Given the description of an element on the screen output the (x, y) to click on. 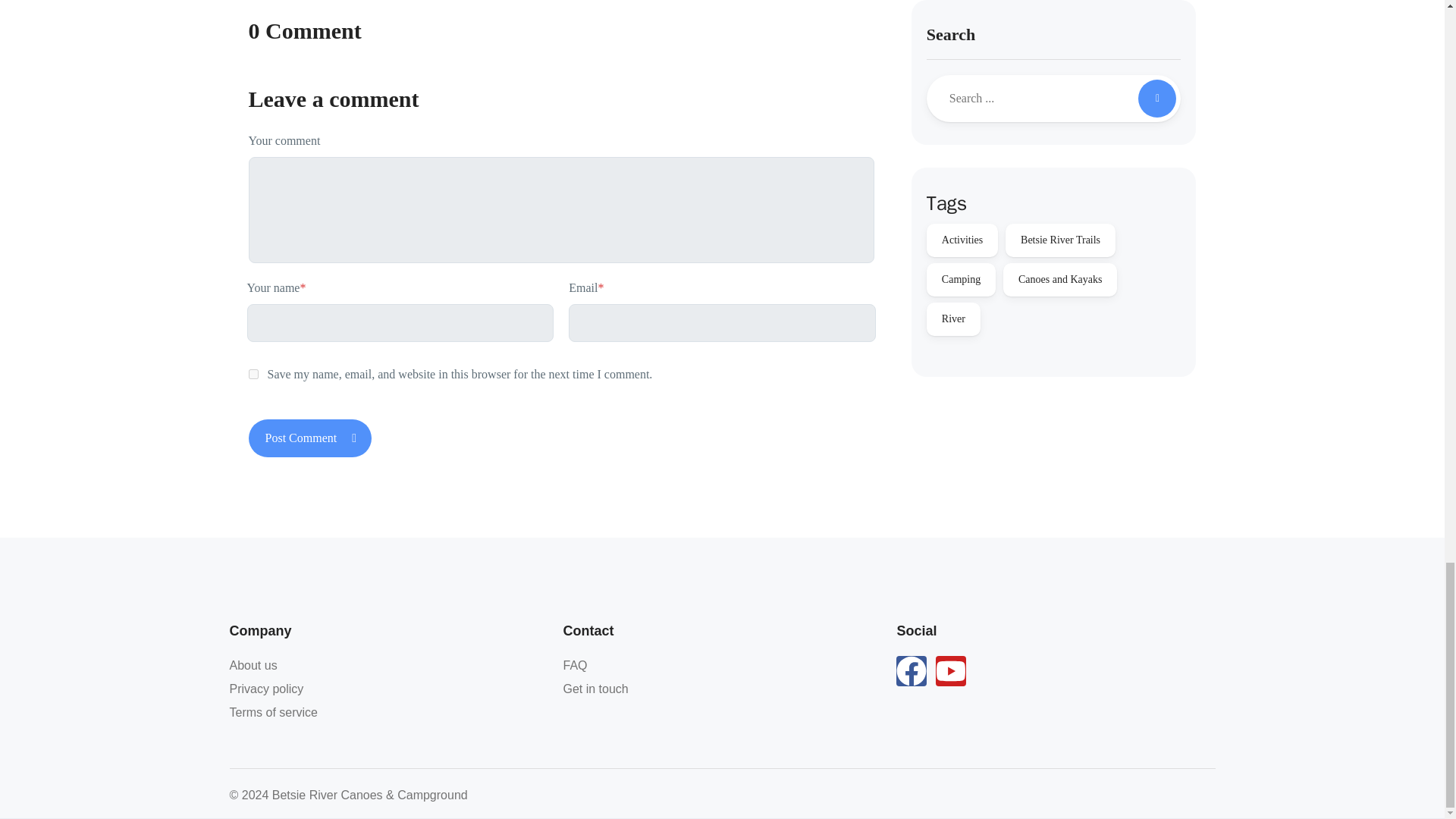
yes (253, 374)
Post Comment (310, 438)
Post Comment (310, 438)
